Given the description of an element on the screen output the (x, y) to click on. 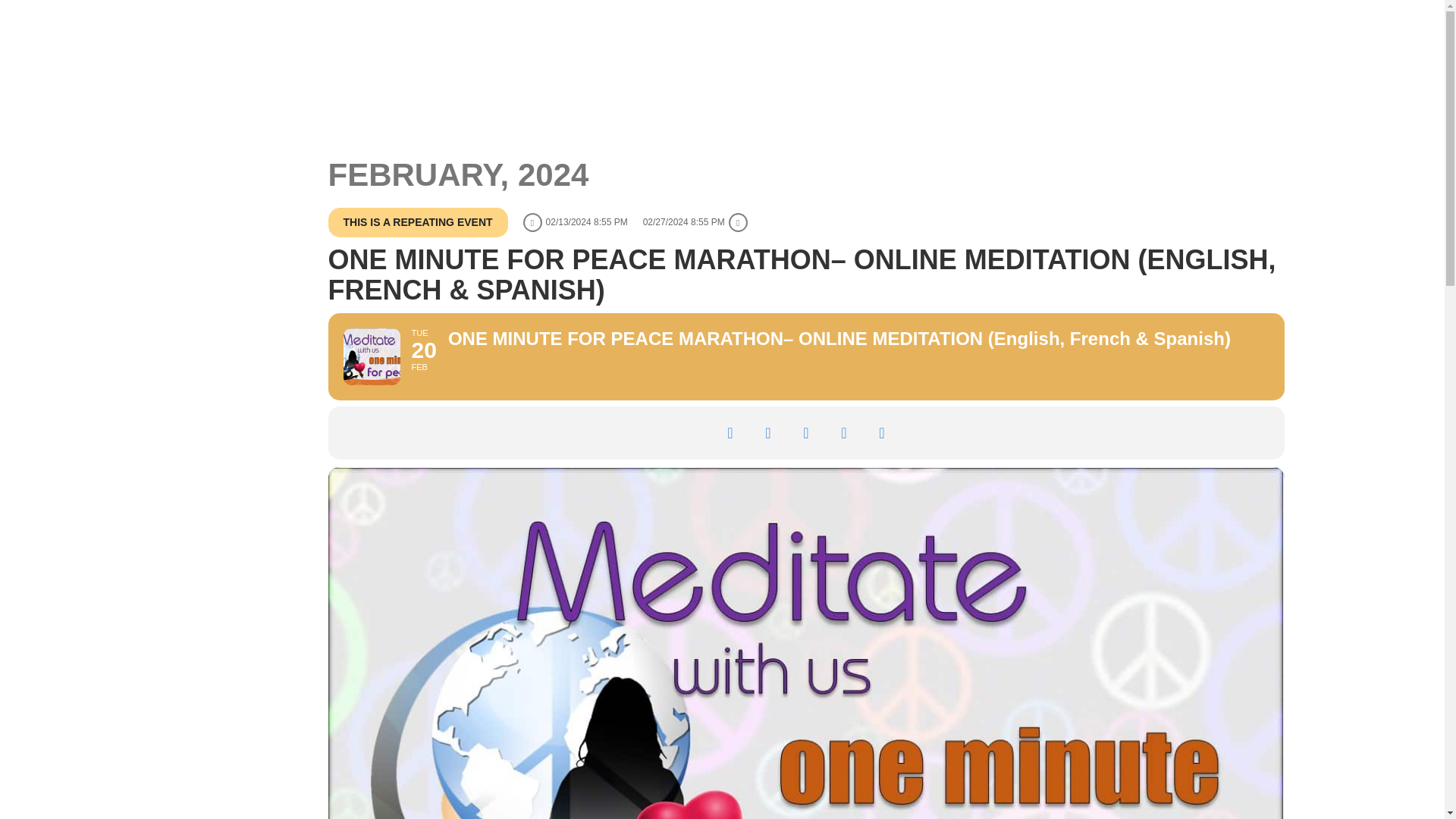
Share on Linkedin (806, 433)
Share on Pinterest (844, 433)
Share on facebook (730, 433)
EMBASSY (829, 65)
RESOURCES (915, 65)
Home (953, 13)
Contact us (1029, 13)
Share on Twitter (768, 433)
EVENTS (1000, 65)
